Given the description of an element on the screen output the (x, y) to click on. 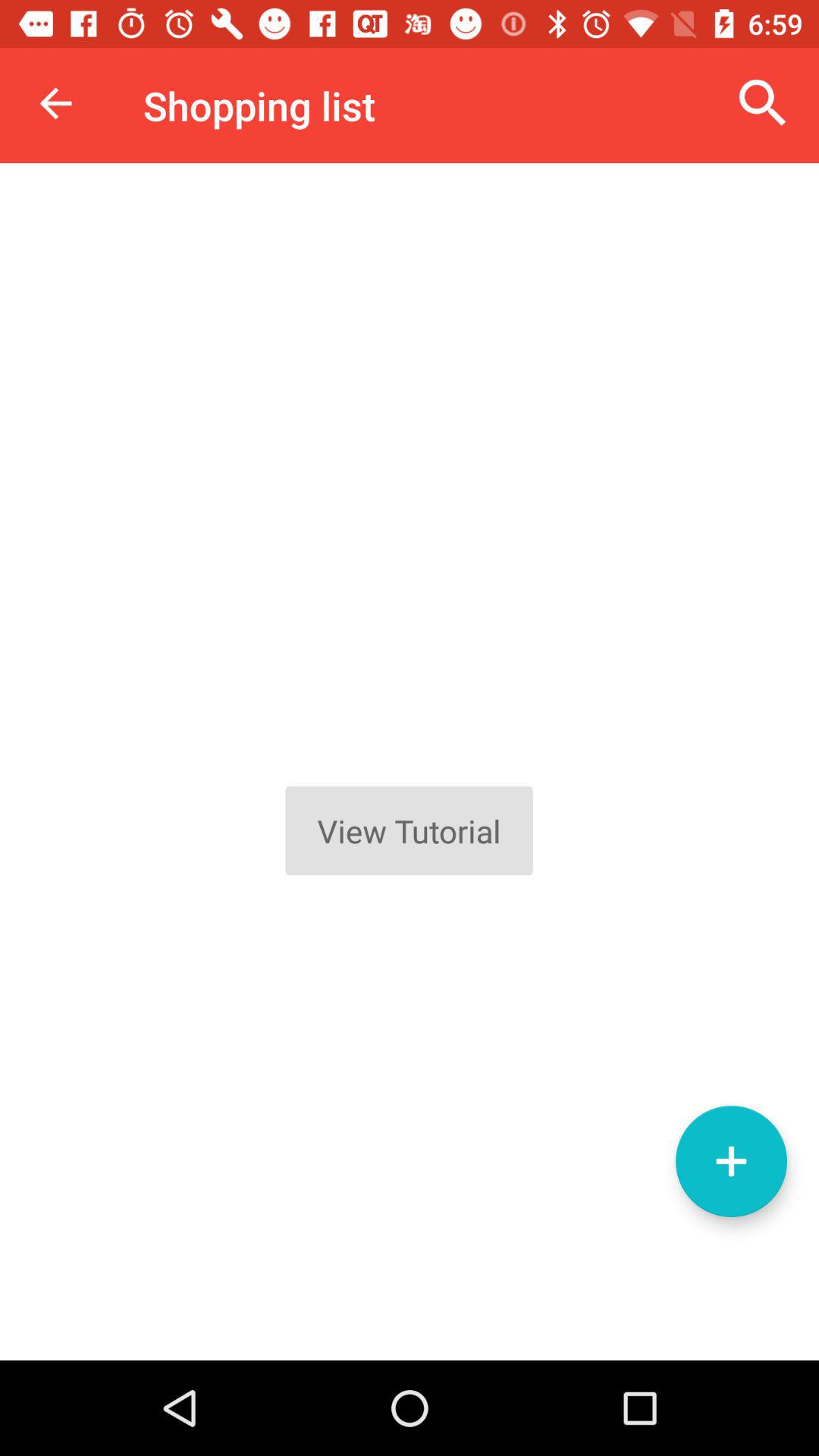
turn off icon at the bottom right corner (731, 1161)
